Given the description of an element on the screen output the (x, y) to click on. 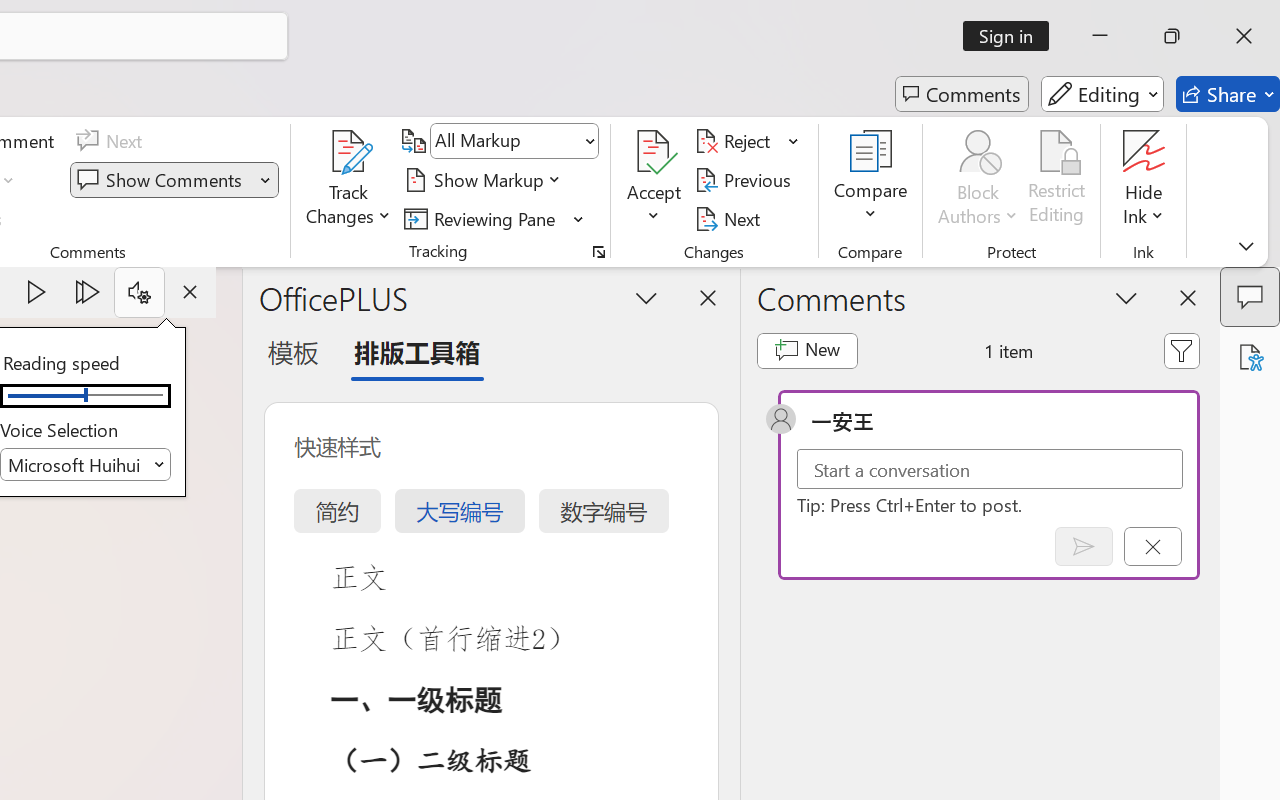
Compare (870, 179)
Next Paragraph (87, 292)
Show Comments (174, 179)
Sign in (1012, 35)
Page left (40, 395)
Show Comments (162, 179)
Accept and Move to Next (653, 151)
